Given the description of an element on the screen output the (x, y) to click on. 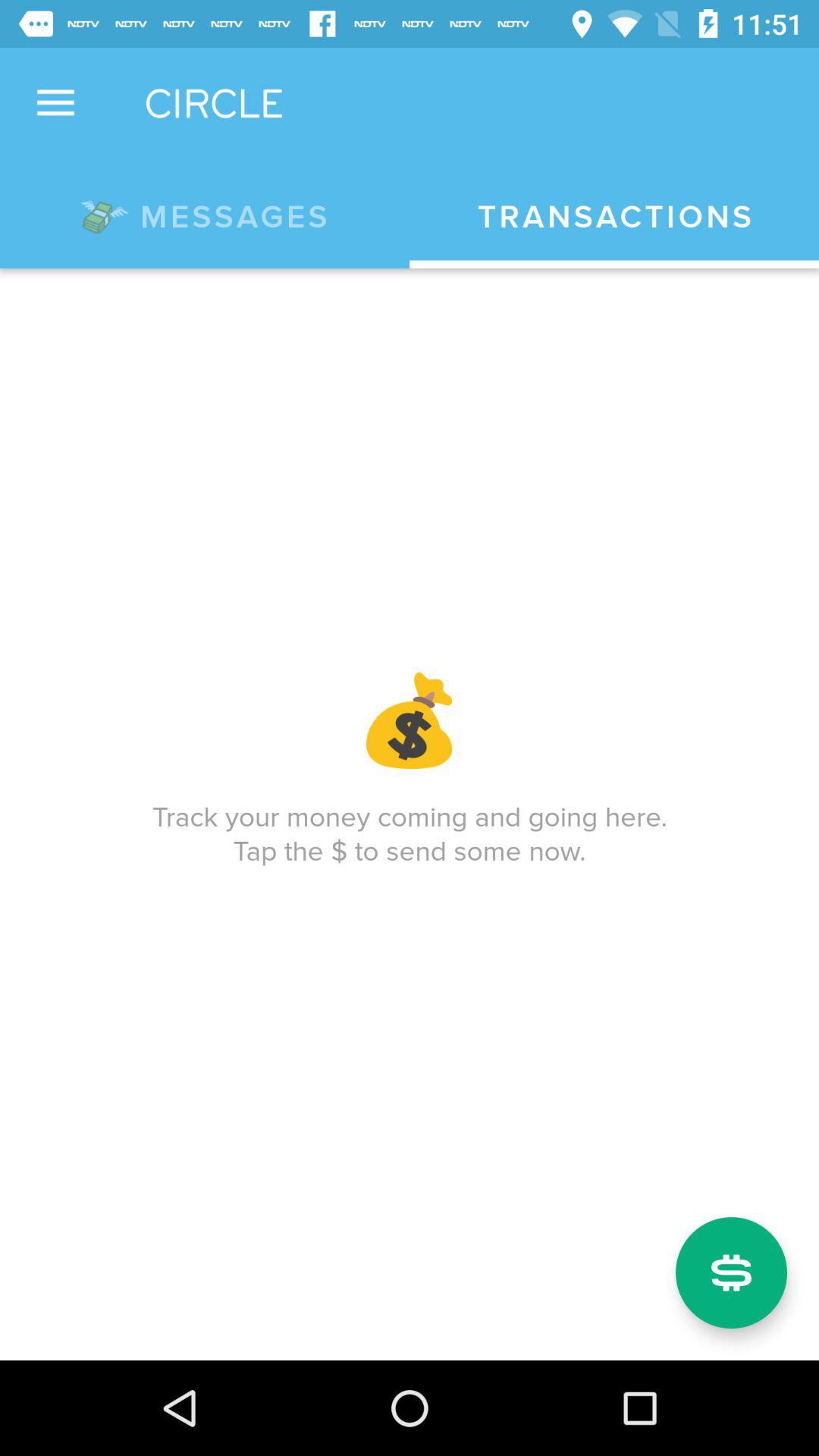
swipe until the *messages app (204, 213)
